Given the description of an element on the screen output the (x, y) to click on. 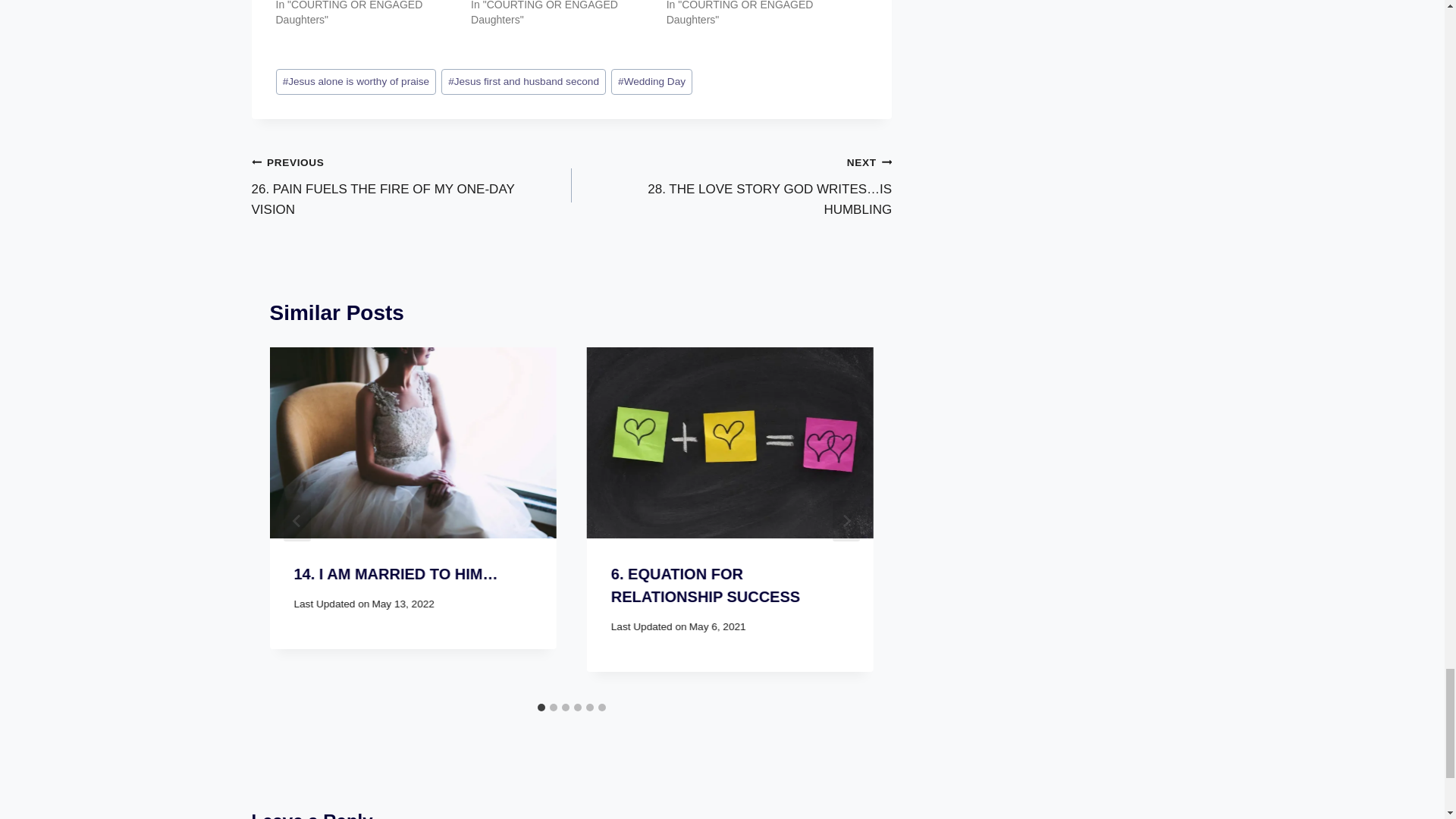
Wedding Day (652, 81)
Jesus alone is worthy of praise (411, 185)
Jesus first and husband second (356, 81)
